Given the description of an element on the screen output the (x, y) to click on. 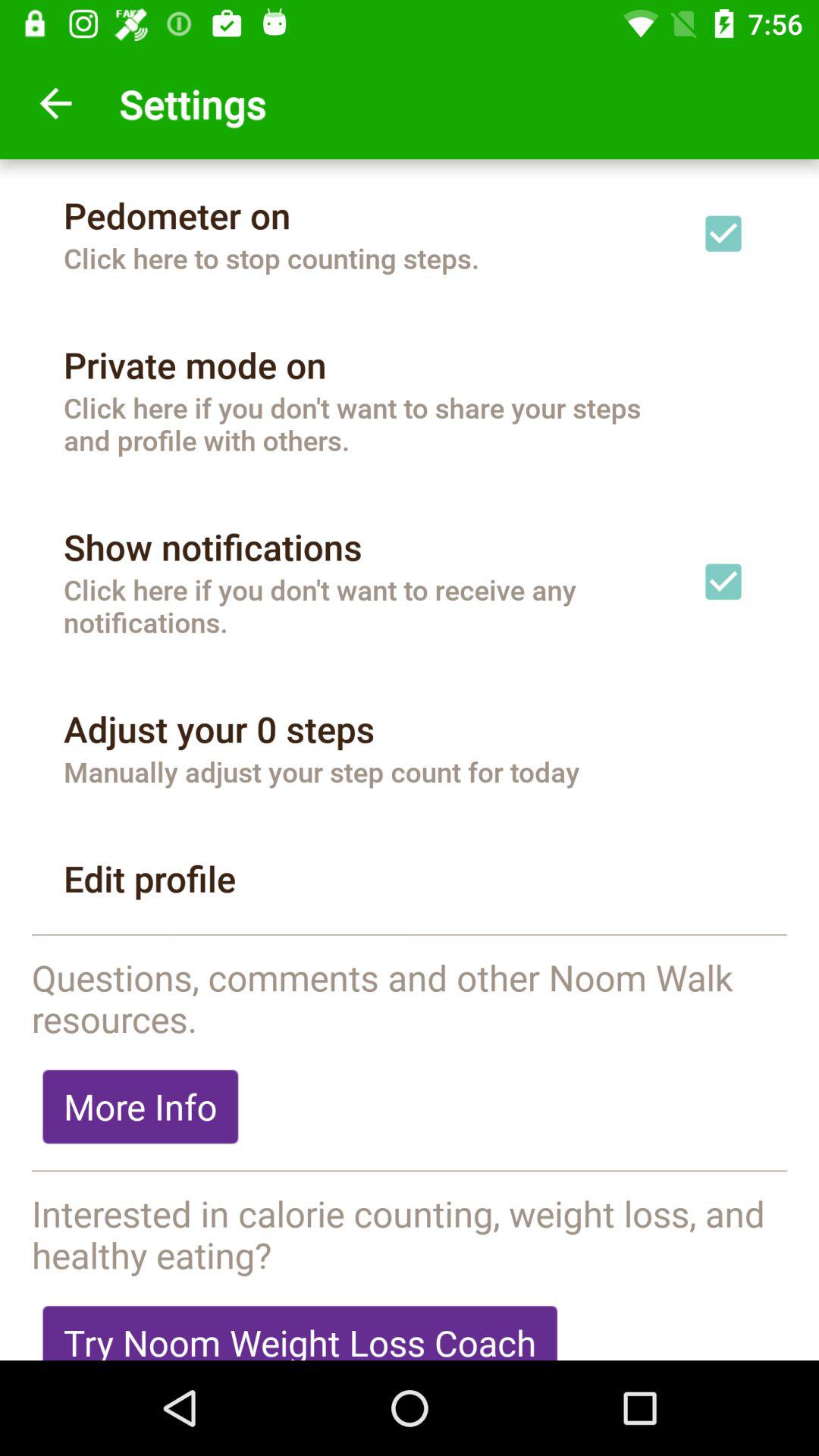
turn on the item above more info (409, 998)
